Given the description of an element on the screen output the (x, y) to click on. 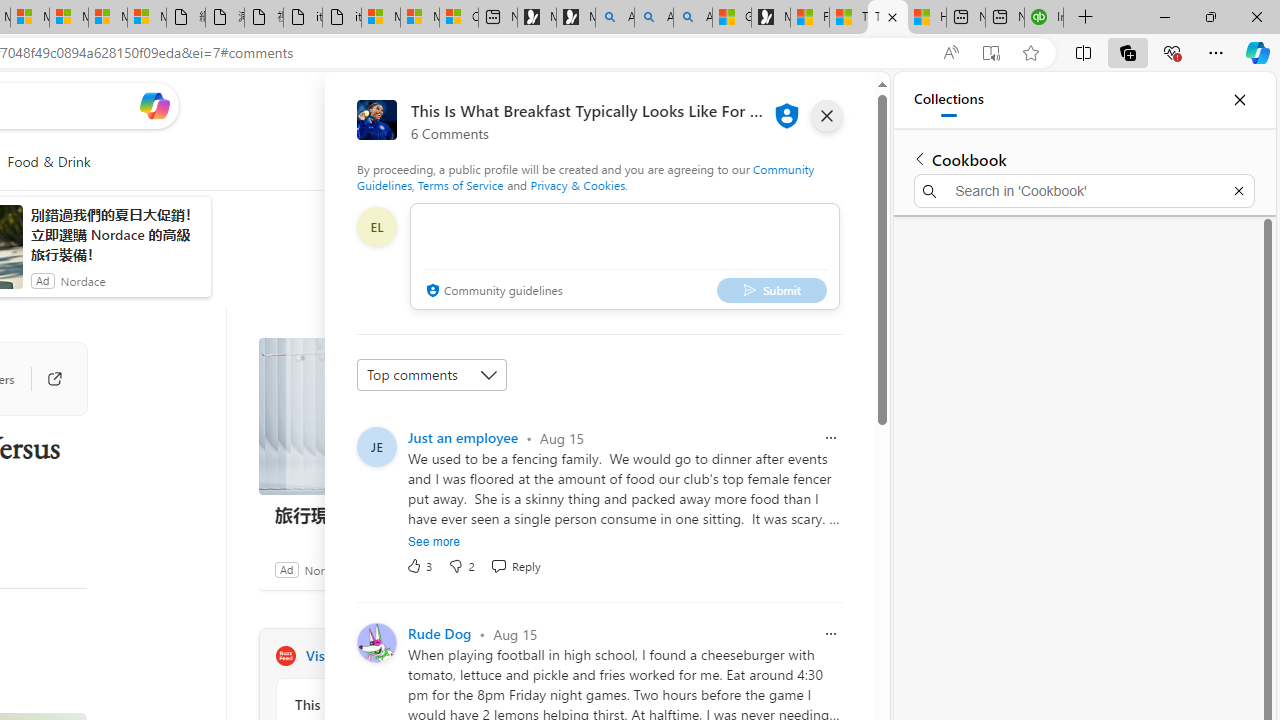
Back to list of collections (920, 158)
Rude Dog (440, 633)
